Given the description of an element on the screen output the (x, y) to click on. 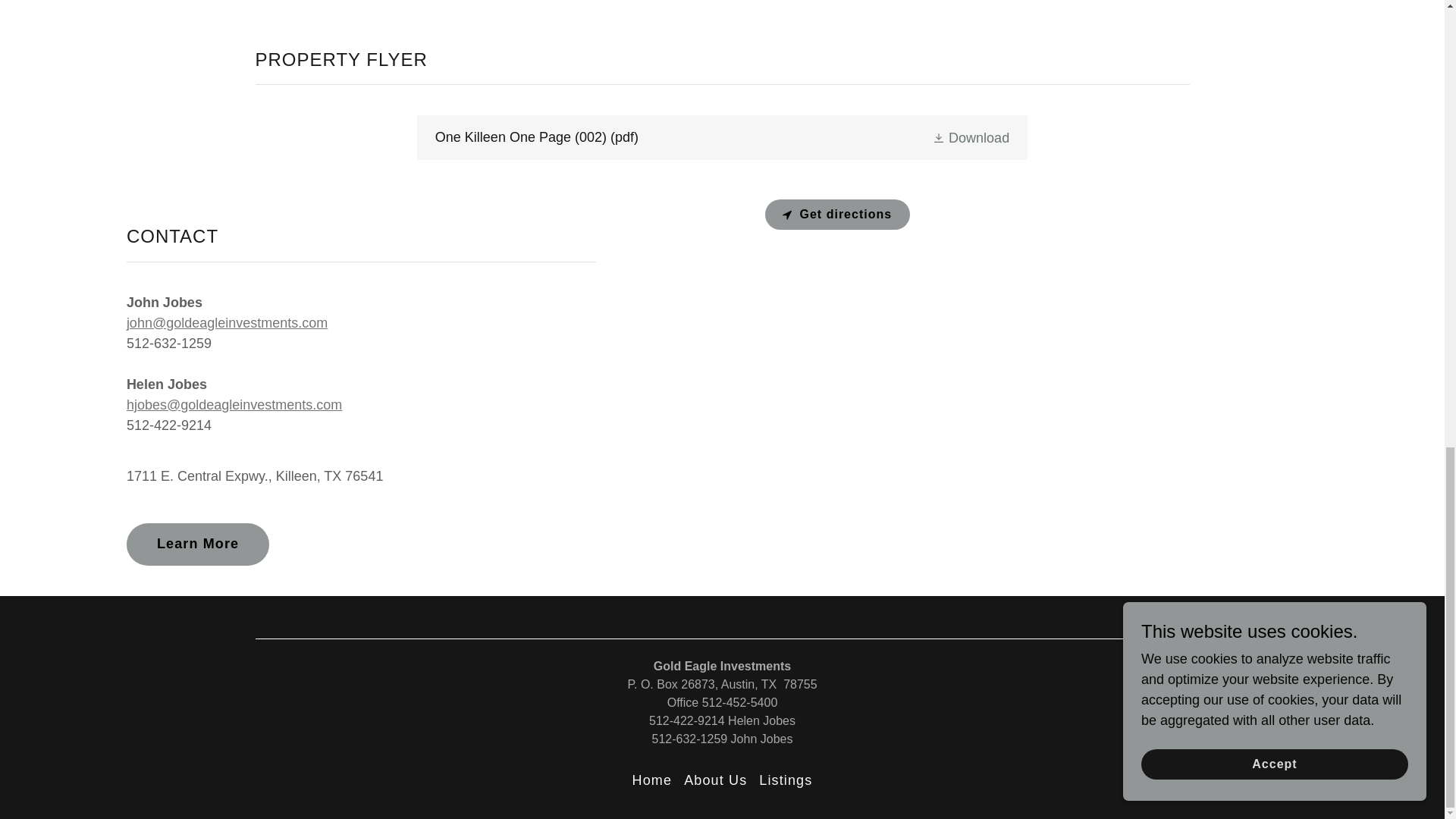
About Us (715, 780)
Learn More (197, 544)
Home (652, 780)
Listings (785, 780)
Get directions (837, 214)
